Given the description of an element on the screen output the (x, y) to click on. 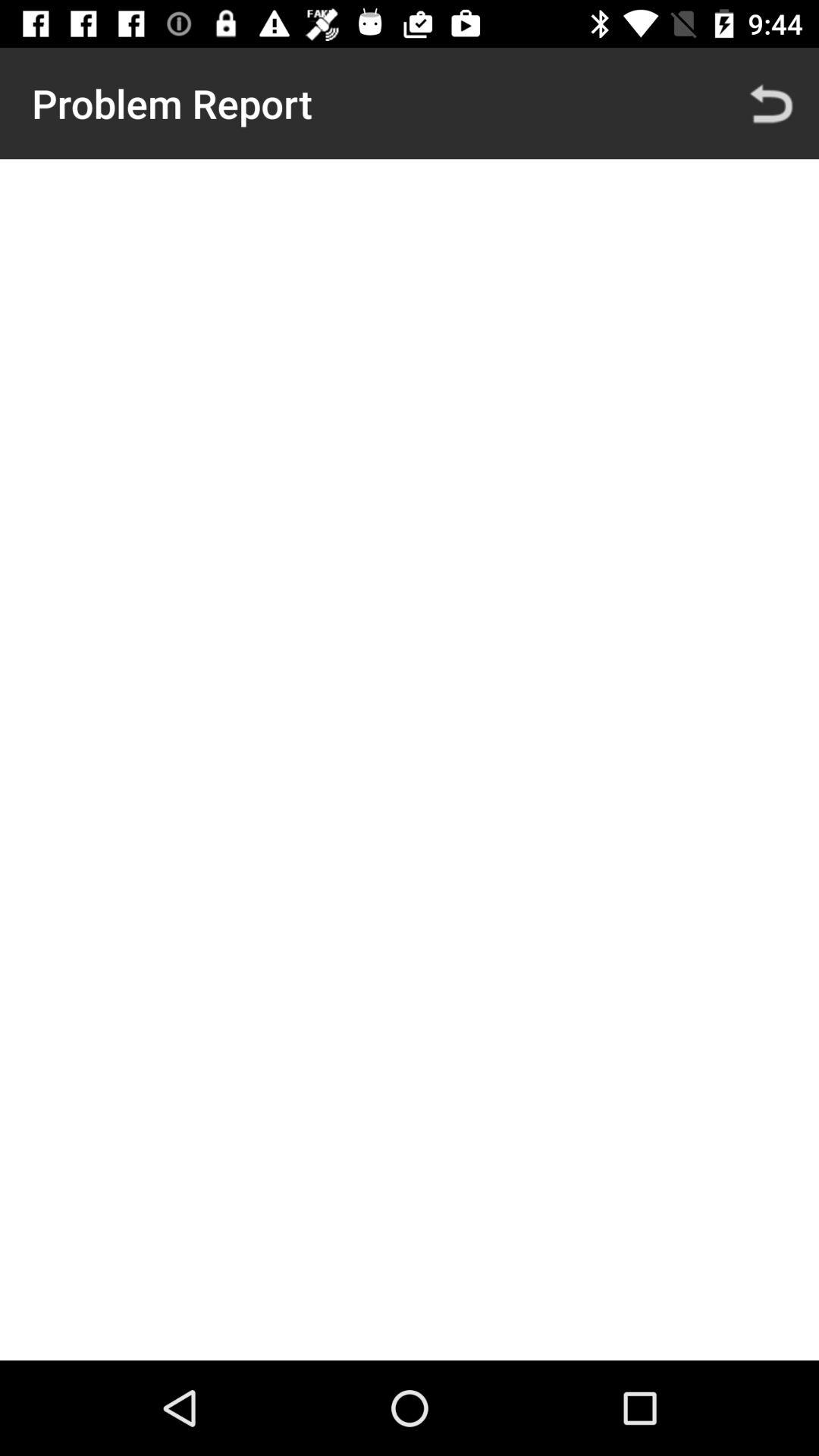
launch the item at the center (409, 759)
